Given the description of an element on the screen output the (x, y) to click on. 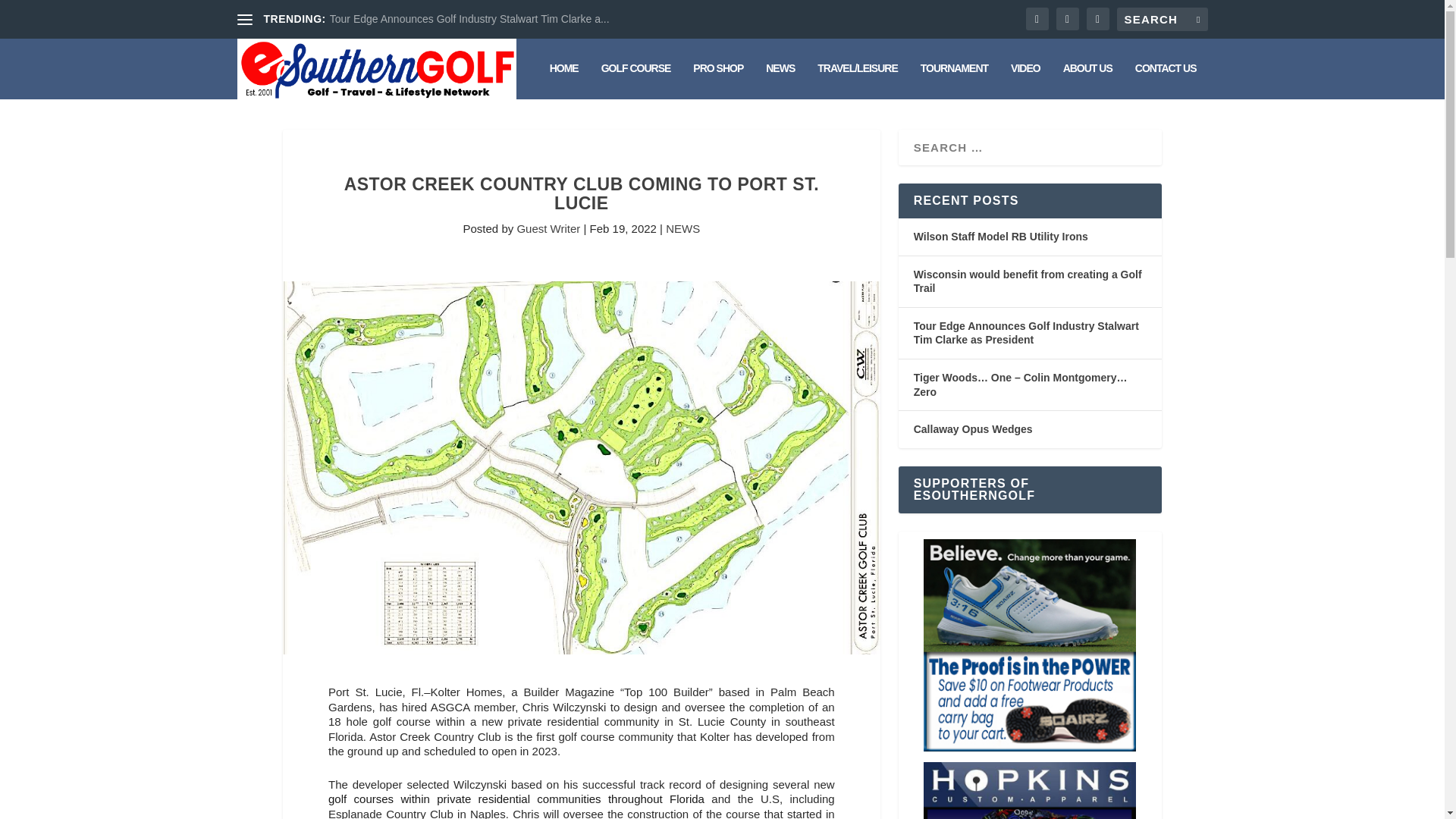
Posts by Guest Writer (547, 228)
Guest Writer (547, 228)
CONTACT US (1165, 80)
Search for: (1161, 19)
ABOUT US (1087, 80)
Tour Edge Announces Golf Industry Stalwart Tim Clarke a... (470, 19)
TOURNAMENT (954, 80)
GOLF COURSE (636, 80)
PRO SHOP (717, 80)
NEWS (682, 228)
